Given the description of an element on the screen output the (x, y) to click on. 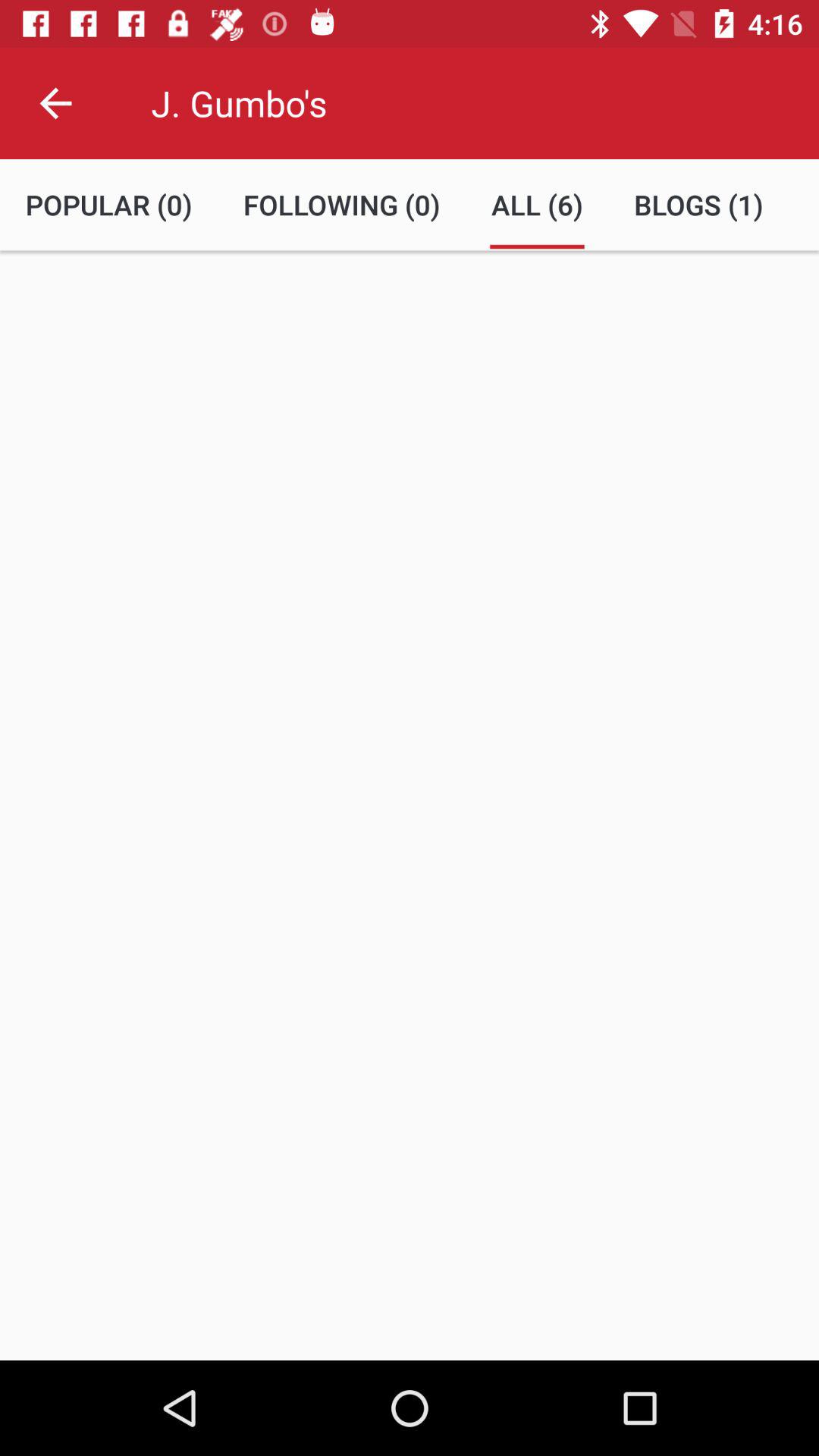
turn on the item next to the following (0) item (108, 204)
